Given the description of an element on the screen output the (x, y) to click on. 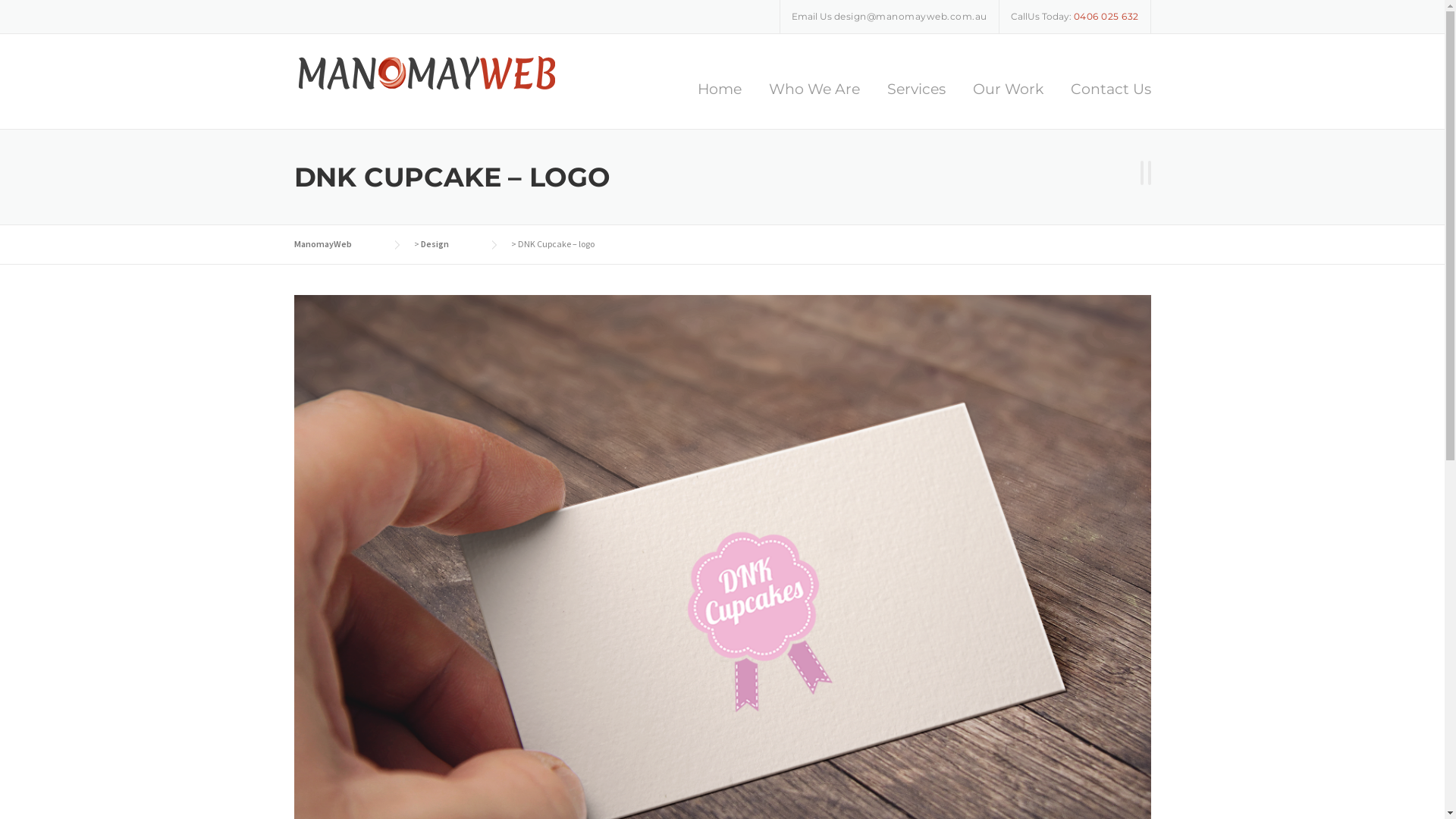
Home Element type: text (719, 102)
ManomayWeb Element type: text (338, 243)
design@manomayweb.com.au Element type: text (910, 15)
Design Element type: text (449, 243)
My Alter Ego Element type: hover (1149, 173)
Skip to content Element type: text (47, 12)
Contact Us Element type: text (1104, 102)
Our Work Element type: text (1007, 102)
Services Element type: text (916, 102)
Network Insurance - logo Element type: hover (1141, 173)
Who We Are Element type: text (814, 102)
ManomayWeb Element type: hover (426, 70)
